Given the description of an element on the screen output the (x, y) to click on. 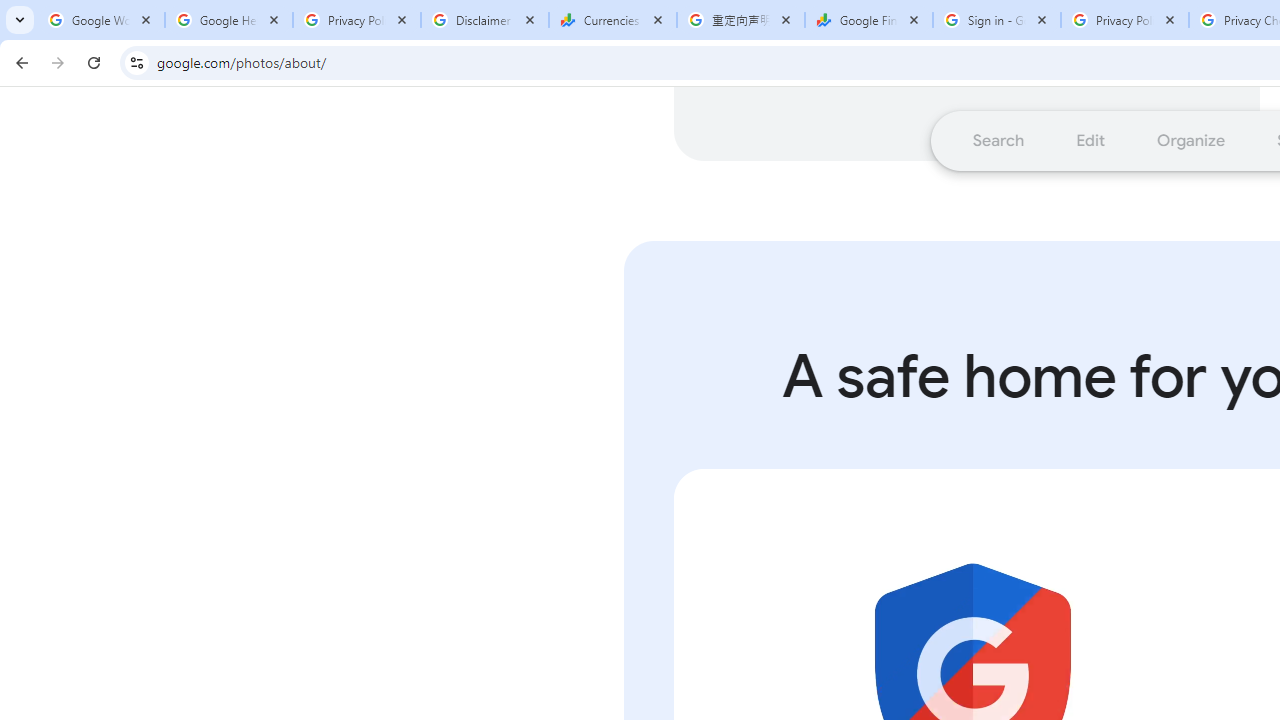
Go to section: Organize (1191, 140)
Currencies - Google Finance (613, 20)
Go to section: Search (998, 140)
